Given the description of an element on the screen output the (x, y) to click on. 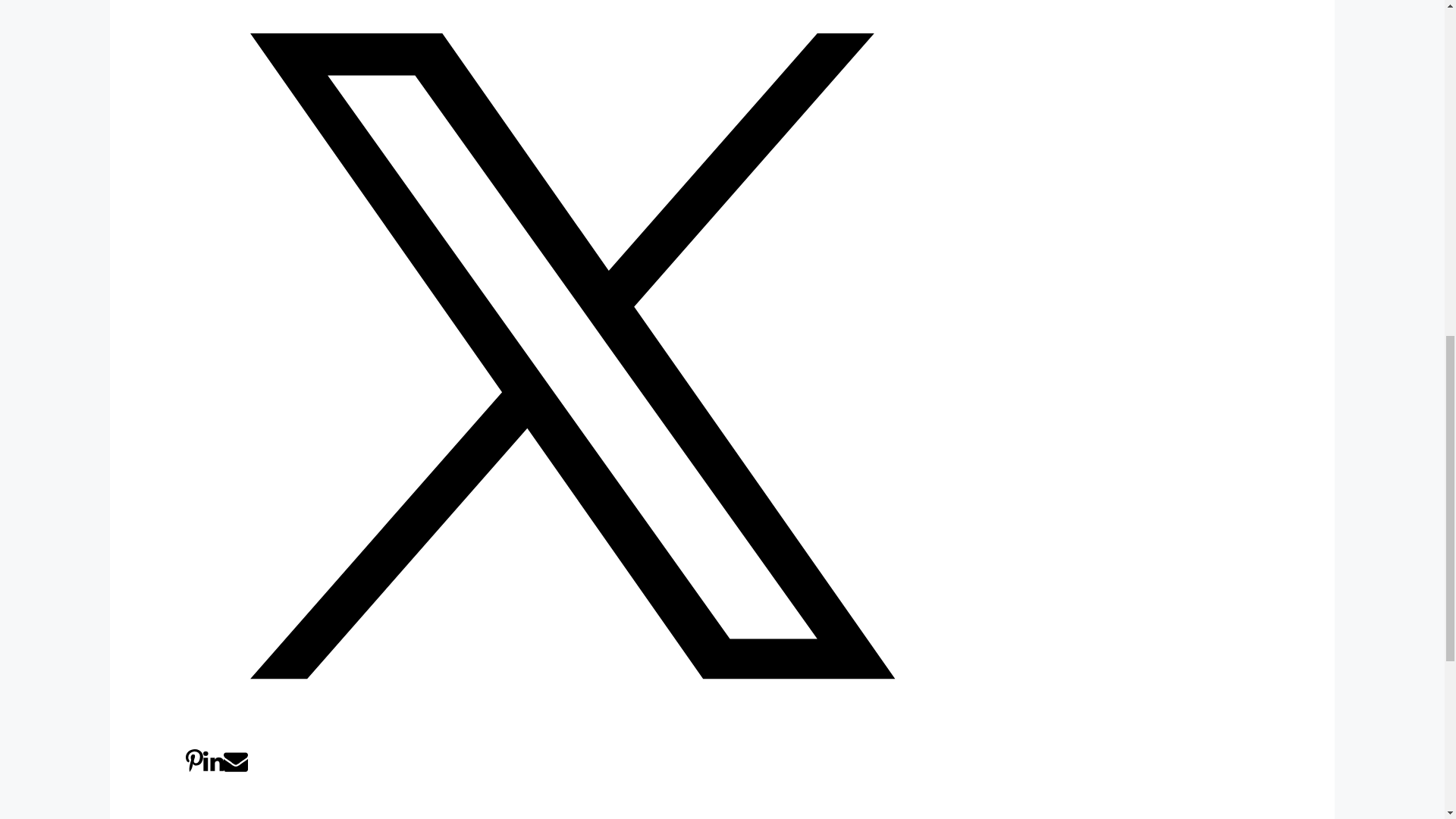
Share via Email (235, 768)
Share on Twitter (572, 738)
Share on Pinterest (194, 768)
Share on LinkedIn (213, 768)
